Given the description of an element on the screen output the (x, y) to click on. 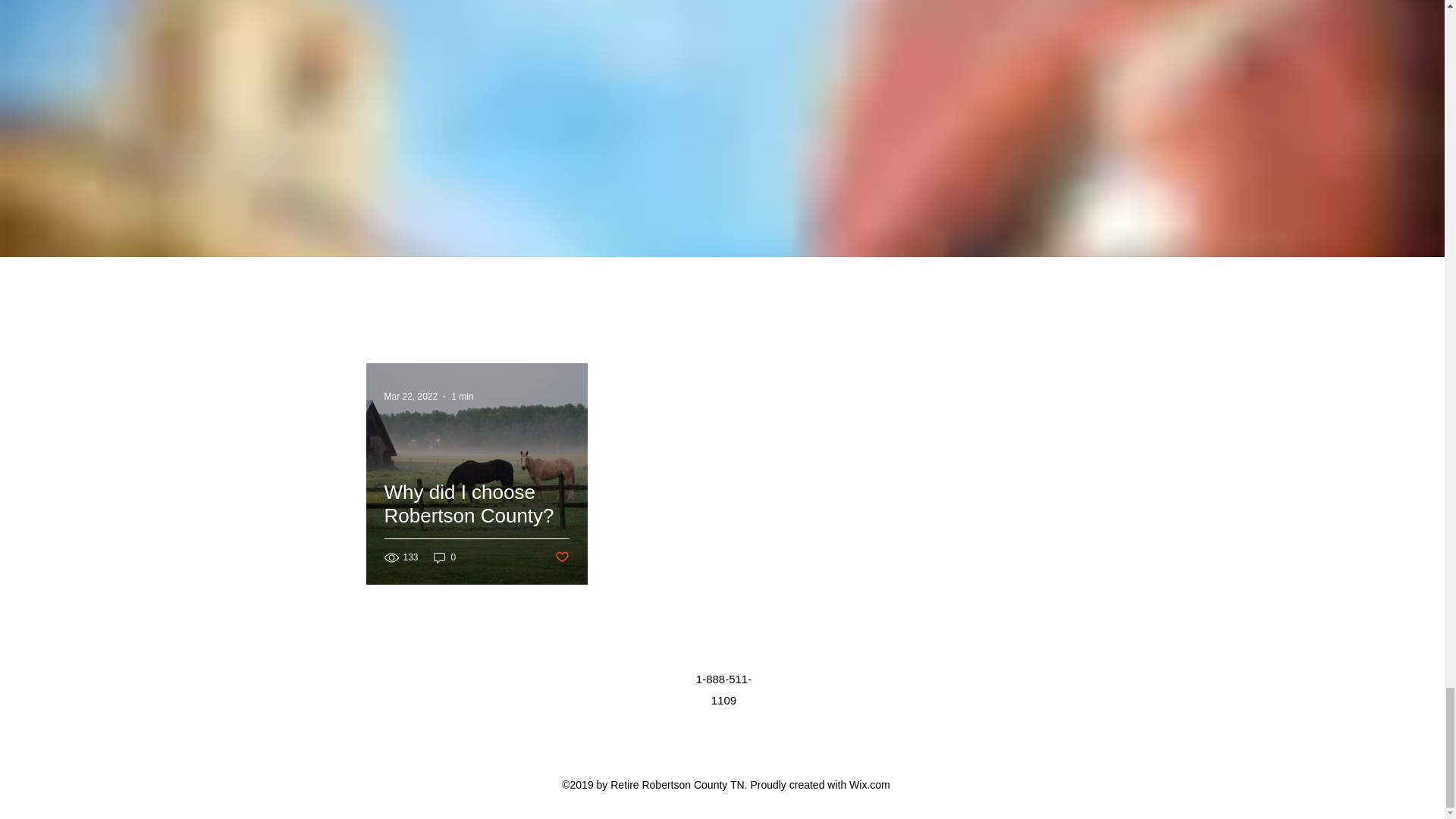
Post not marked as liked (561, 557)
Mar 22, 2022 (411, 396)
1 min (462, 396)
Why did I choose Robertson County? (476, 521)
0 (445, 557)
